Given the description of an element on the screen output the (x, y) to click on. 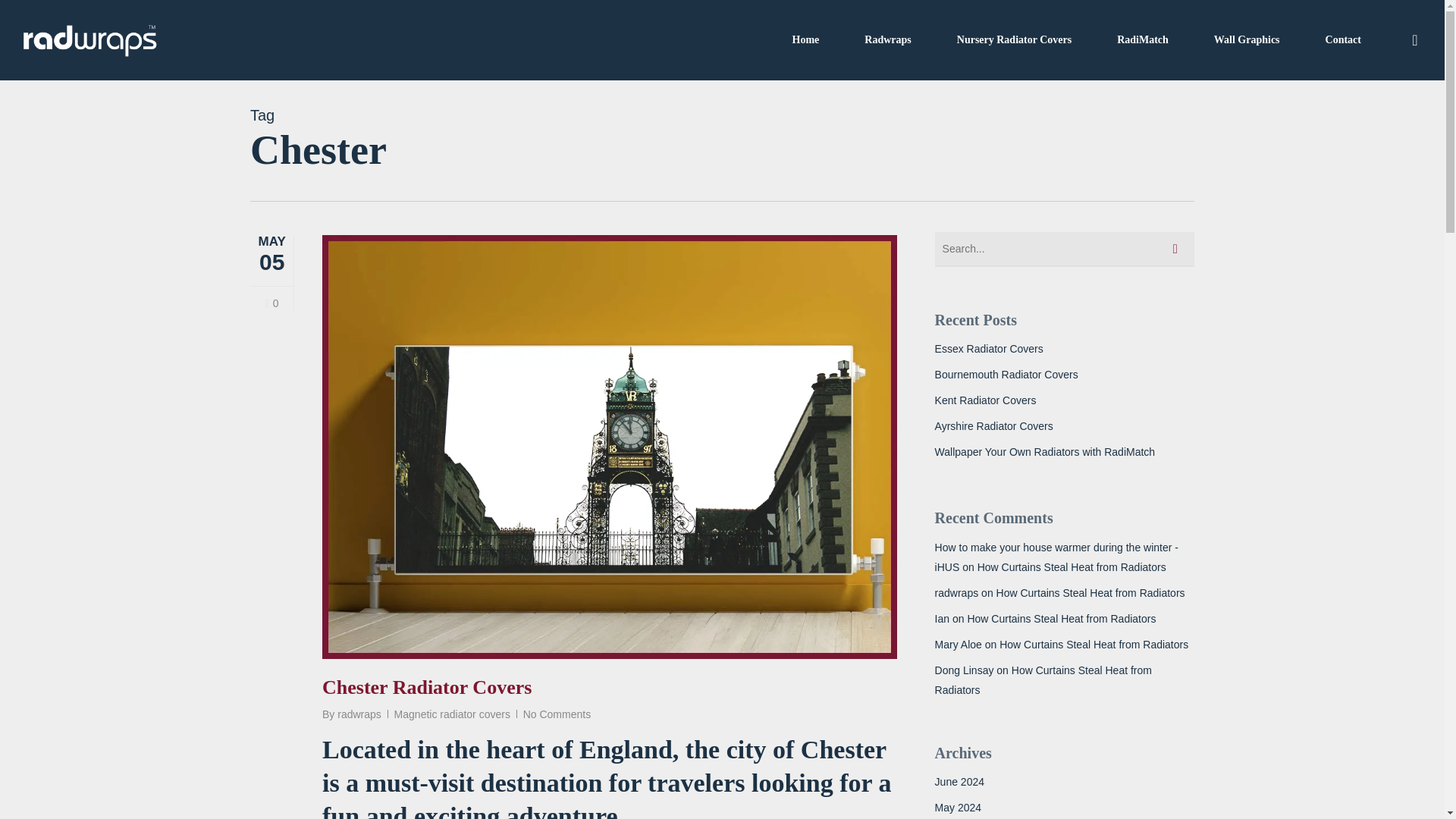
How Curtains Steal Heat from Radiators (1042, 680)
How Curtains Steal Heat from Radiators (1071, 567)
Magnetic radiator covers (452, 714)
No Comments (556, 714)
How Curtains Steal Heat from Radiators (1061, 618)
Posts by radwraps (359, 714)
How Curtains Steal Heat from Radiators (1093, 644)
June 2024 (1063, 781)
Bournemouth Radiator Covers (1063, 374)
Home (805, 39)
Kent Radiator Covers (1063, 400)
radwraps (956, 592)
Contact (1342, 39)
Search for: (1063, 248)
How to make your house warmer during the winter - iHUS (1055, 557)
